Given the description of an element on the screen output the (x, y) to click on. 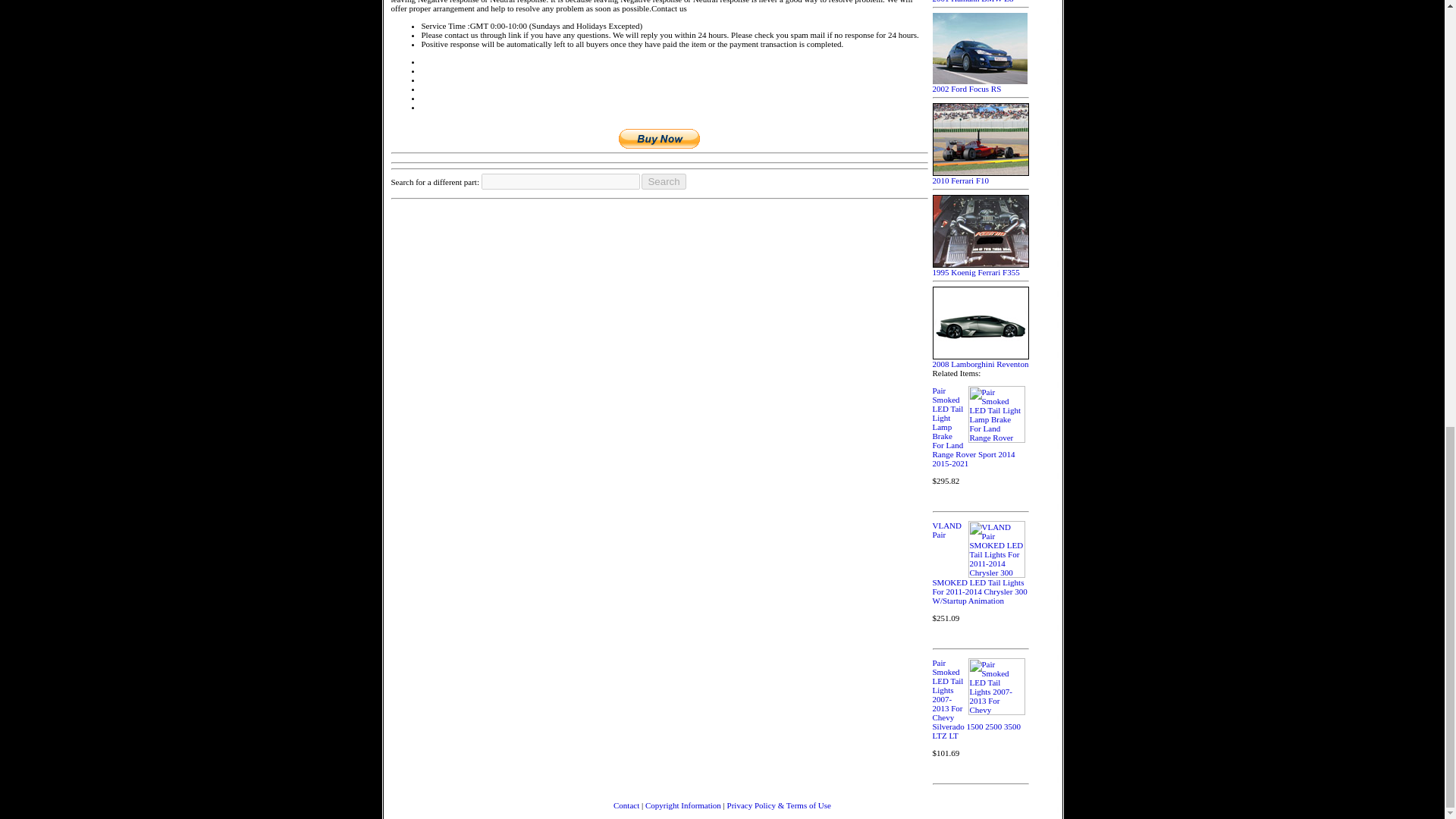
2001 Hamann BMW Z8 pictures (981, 1)
2010 Ferrari F10 (981, 176)
Contact (625, 804)
1995 Koenig Ferrari F355 (981, 268)
Search (663, 181)
2002 Ford Focus RS (980, 84)
1995 Koenig Ferrari F355 pictures (981, 268)
